Given the description of an element on the screen output the (x, y) to click on. 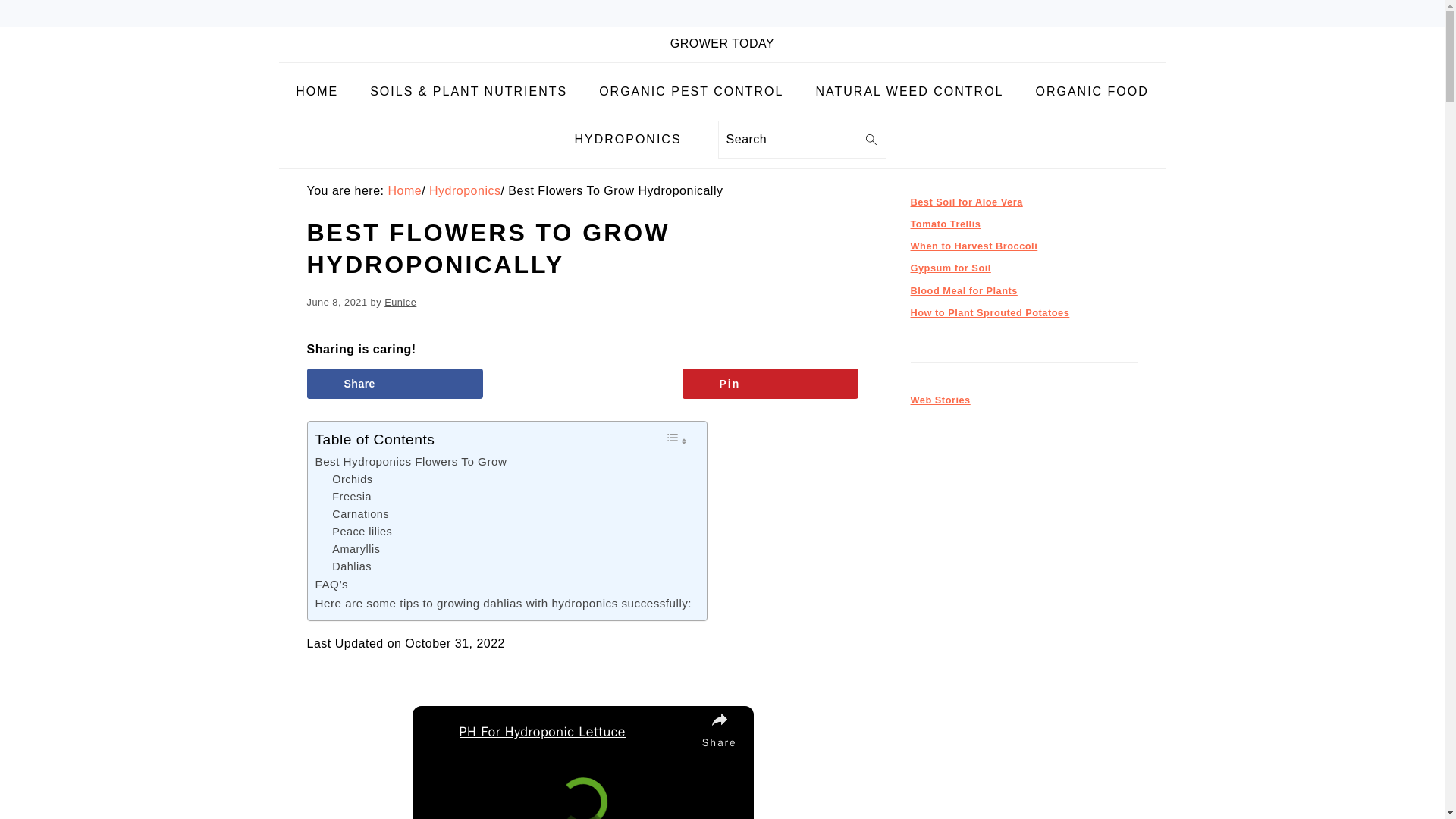
Peace lilies (361, 531)
Share (394, 383)
Amaryllis (355, 548)
Carnations (359, 514)
Share on X (583, 383)
Freesia (351, 497)
Freesia (351, 497)
HYDROPONICS (627, 139)
Amaryllis (355, 548)
Tweet (583, 383)
ORGANIC FOOD (1091, 91)
